Given the description of an element on the screen output the (x, y) to click on. 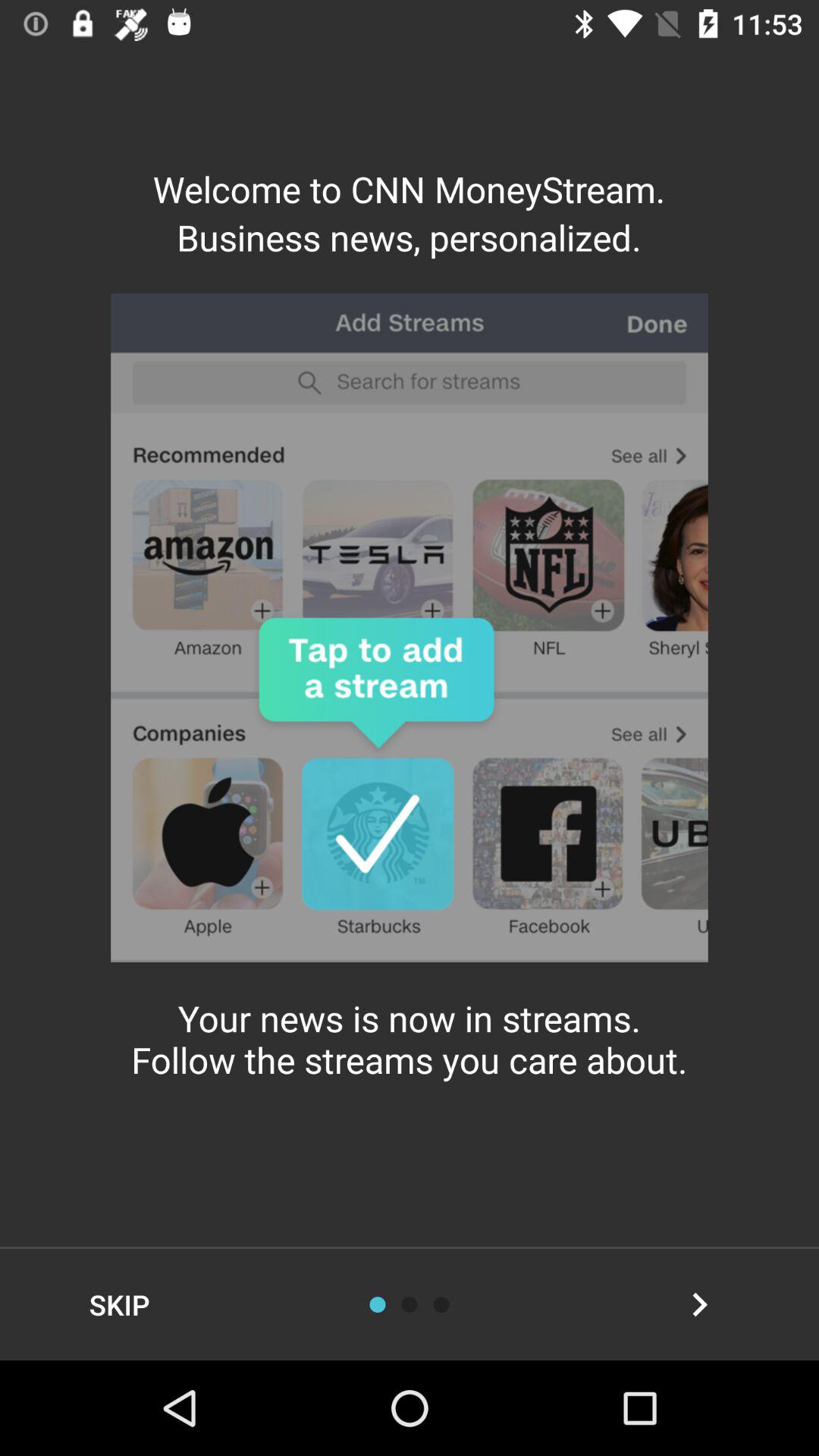
scroll (441, 1304)
